Given the description of an element on the screen output the (x, y) to click on. 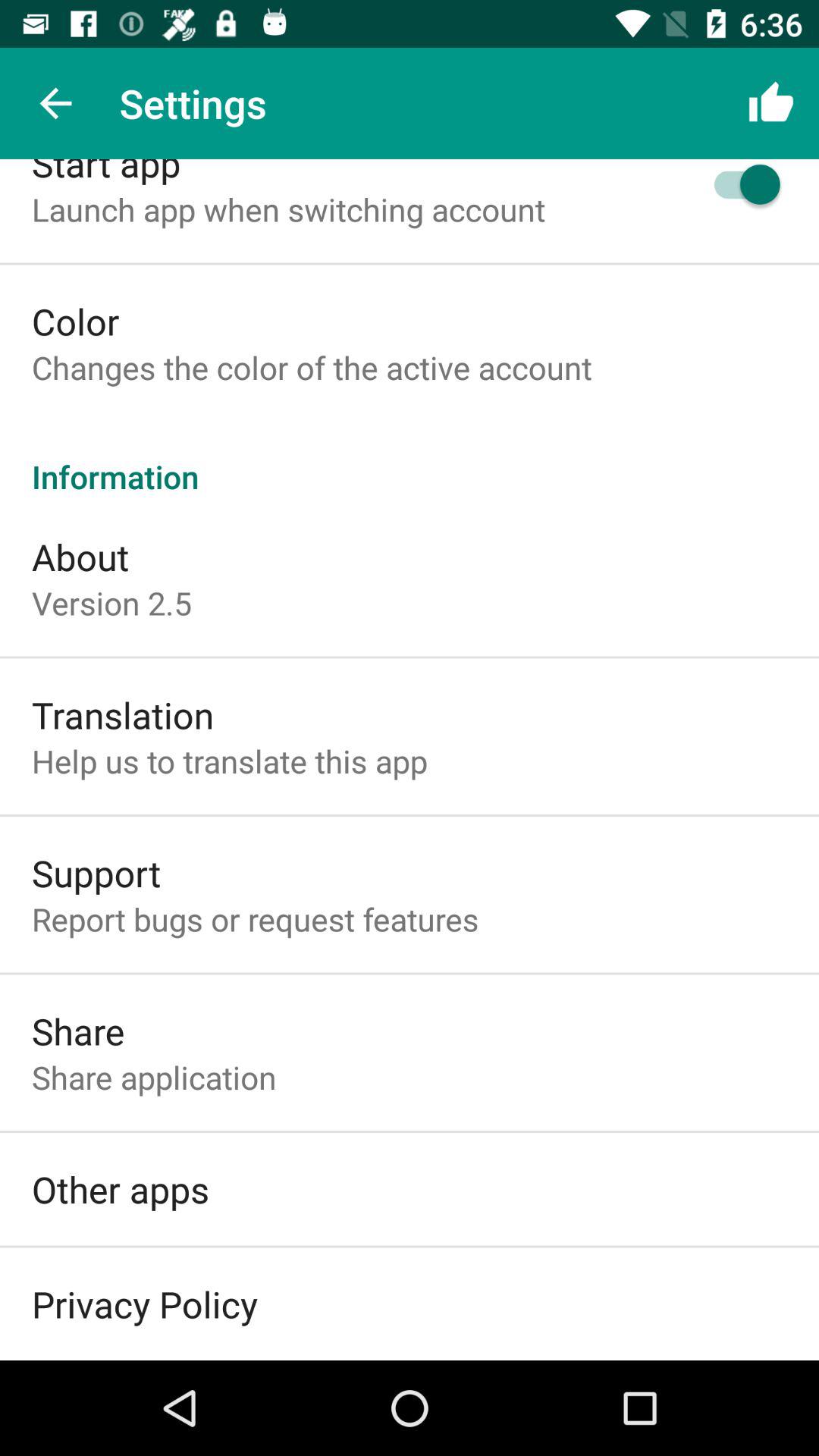
click the changes the color icon (311, 367)
